Given the description of an element on the screen output the (x, y) to click on. 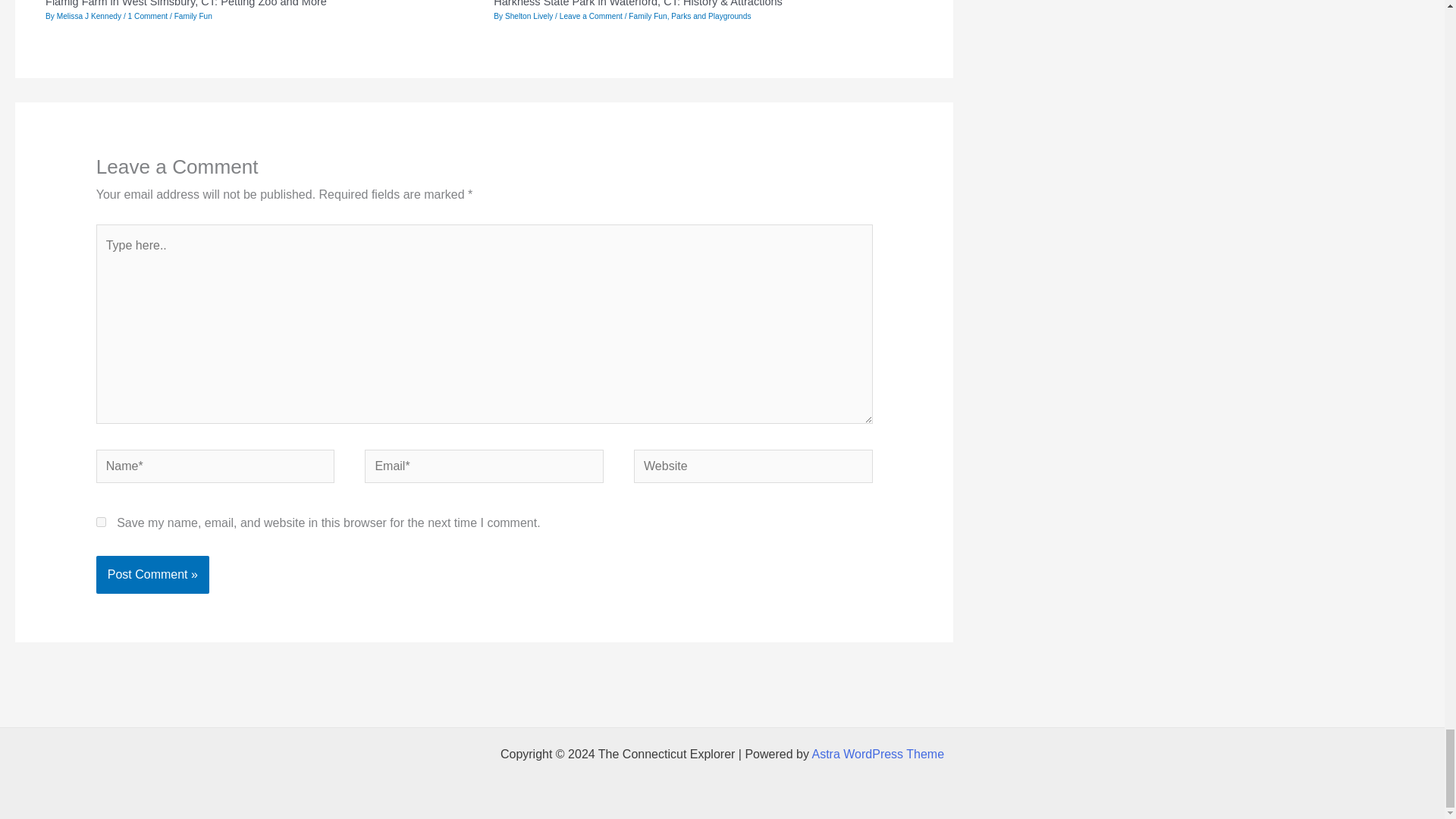
View all posts by Melissa J Kennedy (89, 16)
View all posts by Shelton Lively (529, 16)
yes (101, 521)
